Given the description of an element on the screen output the (x, y) to click on. 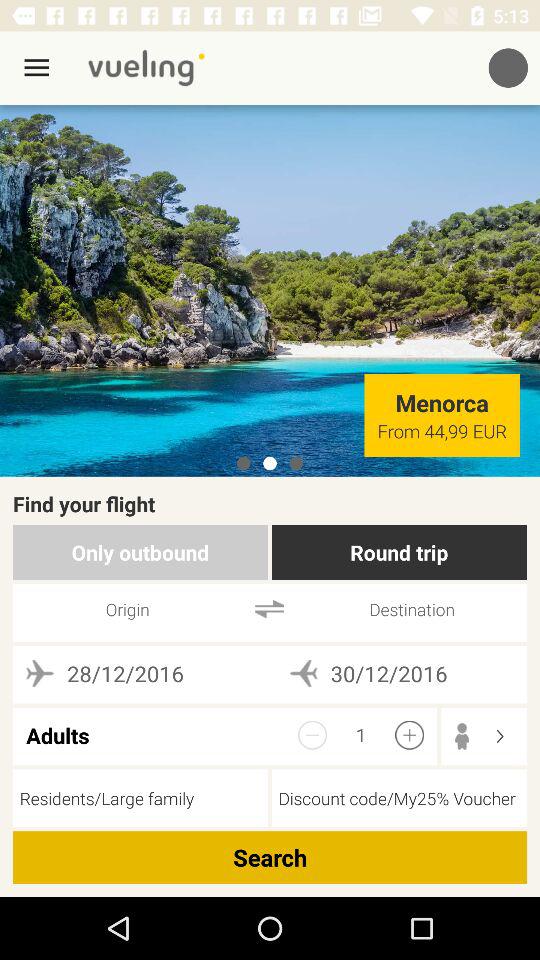
open only outbound icon (140, 552)
